Given the description of an element on the screen output the (x, y) to click on. 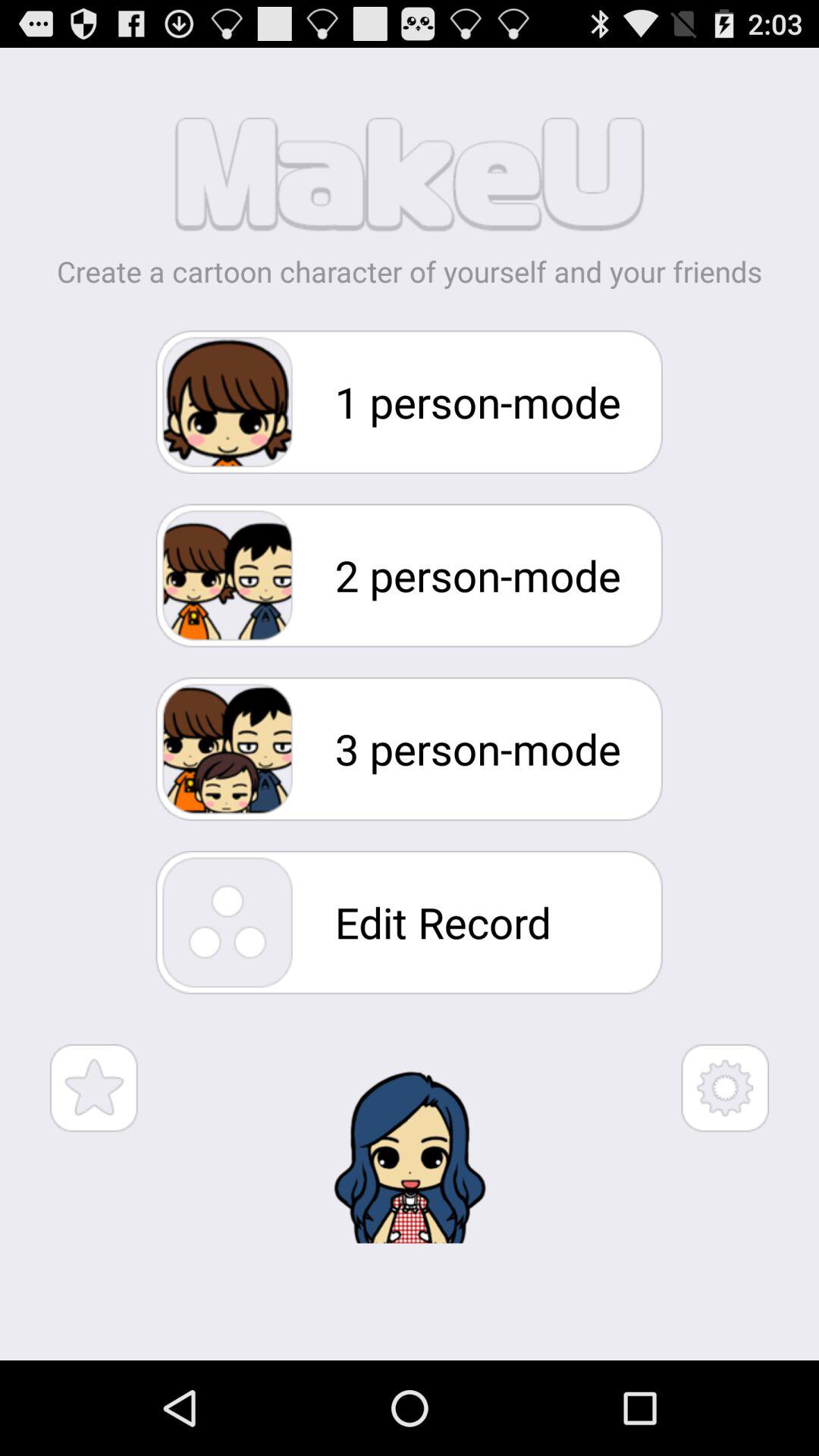
star symbol (93, 1087)
